Given the description of an element on the screen output the (x, y) to click on. 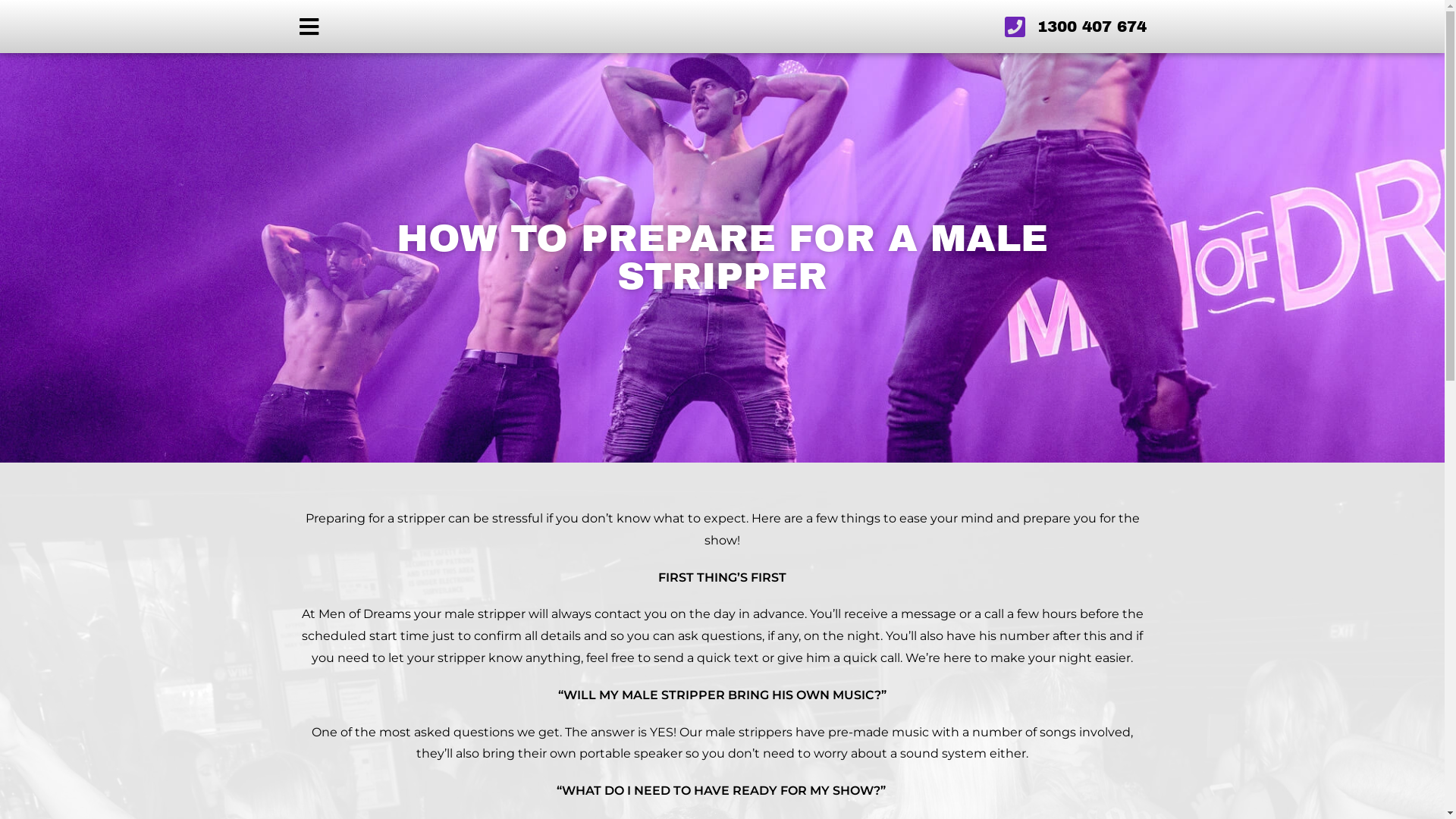
1300 407 674 Element type: text (1009, 26)
